Given the description of an element on the screen output the (x, y) to click on. 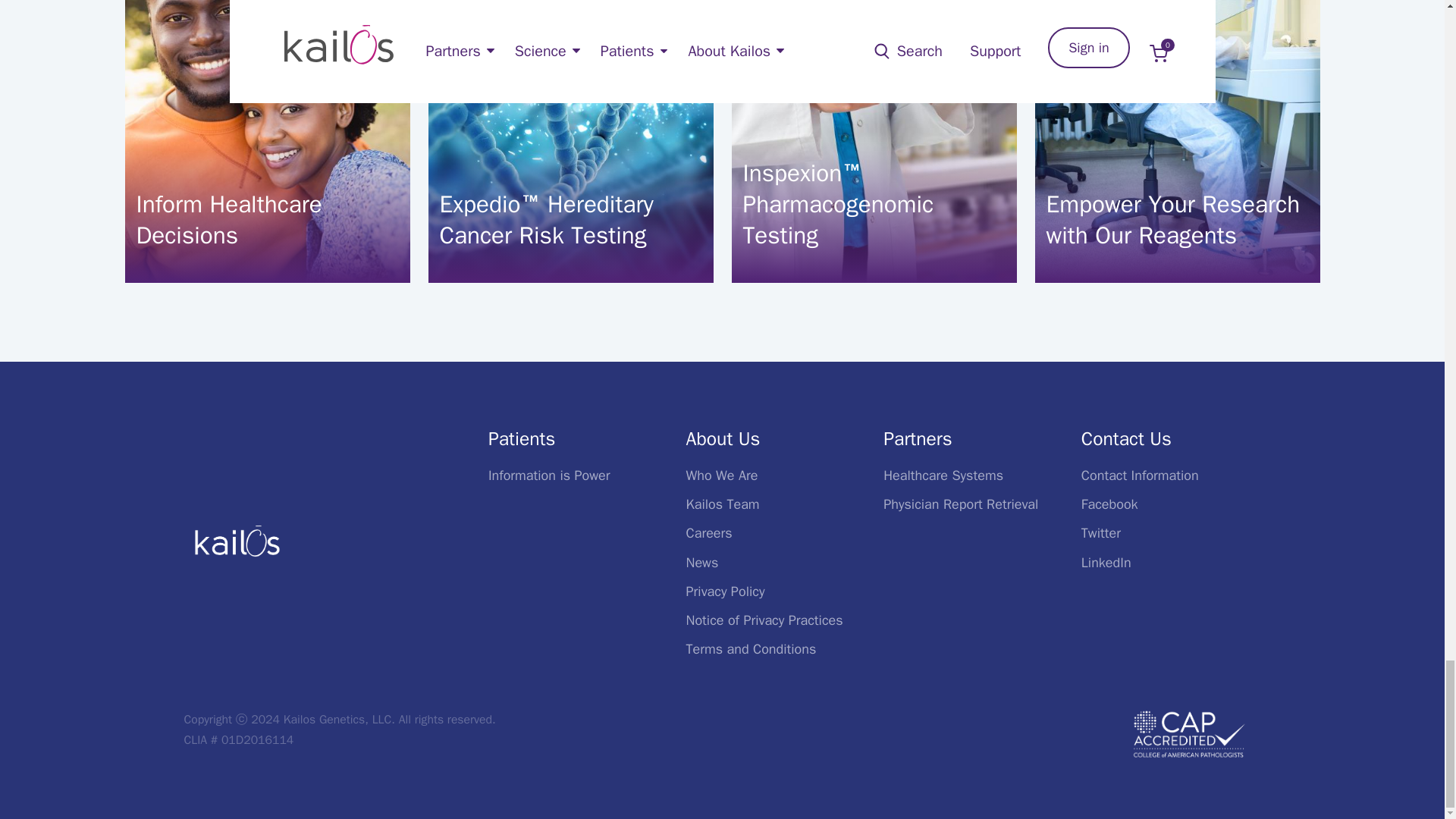
Kailos Team (722, 504)
Notice of Privacy Practices (764, 619)
Who We Are (721, 475)
Empower Your Research with Our Reagents (1177, 220)
Information is Power (548, 475)
Inform Healthcare Decisions (267, 220)
